Given the description of an element on the screen output the (x, y) to click on. 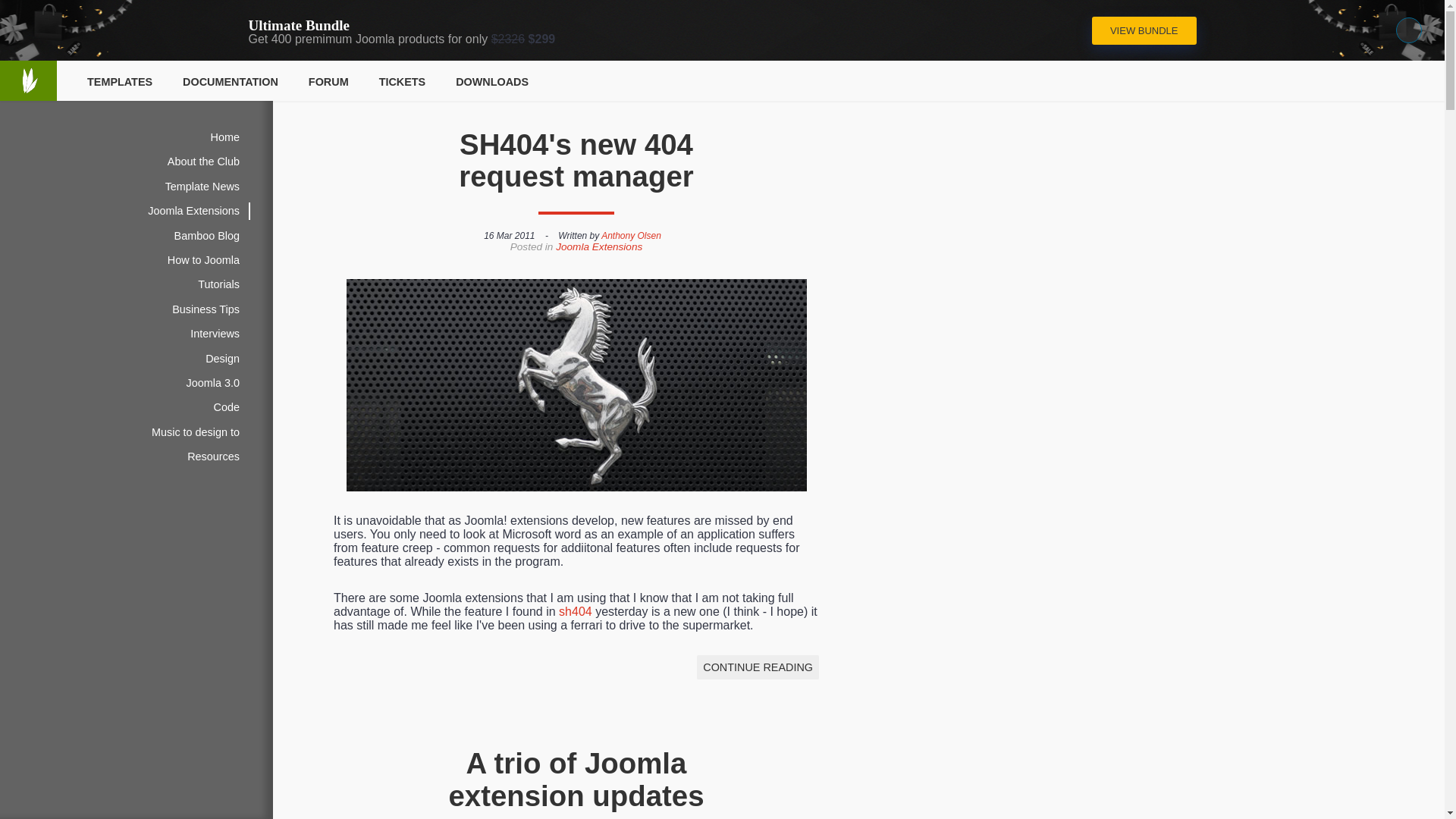
DOCUMENTATION (229, 81)
DOWNLOADS (491, 81)
How to Joomla (203, 259)
Joomla Extensions (599, 246)
Anthony Olsen (631, 235)
Design (222, 358)
CONTINUE READING (757, 667)
TEMPLATES (120, 81)
TICKETS (402, 81)
Interviews (214, 333)
Tutorials (218, 284)
Code (226, 406)
Joomla Extensions (193, 210)
Template News (201, 186)
Music to design to (195, 432)
